Given the description of an element on the screen output the (x, y) to click on. 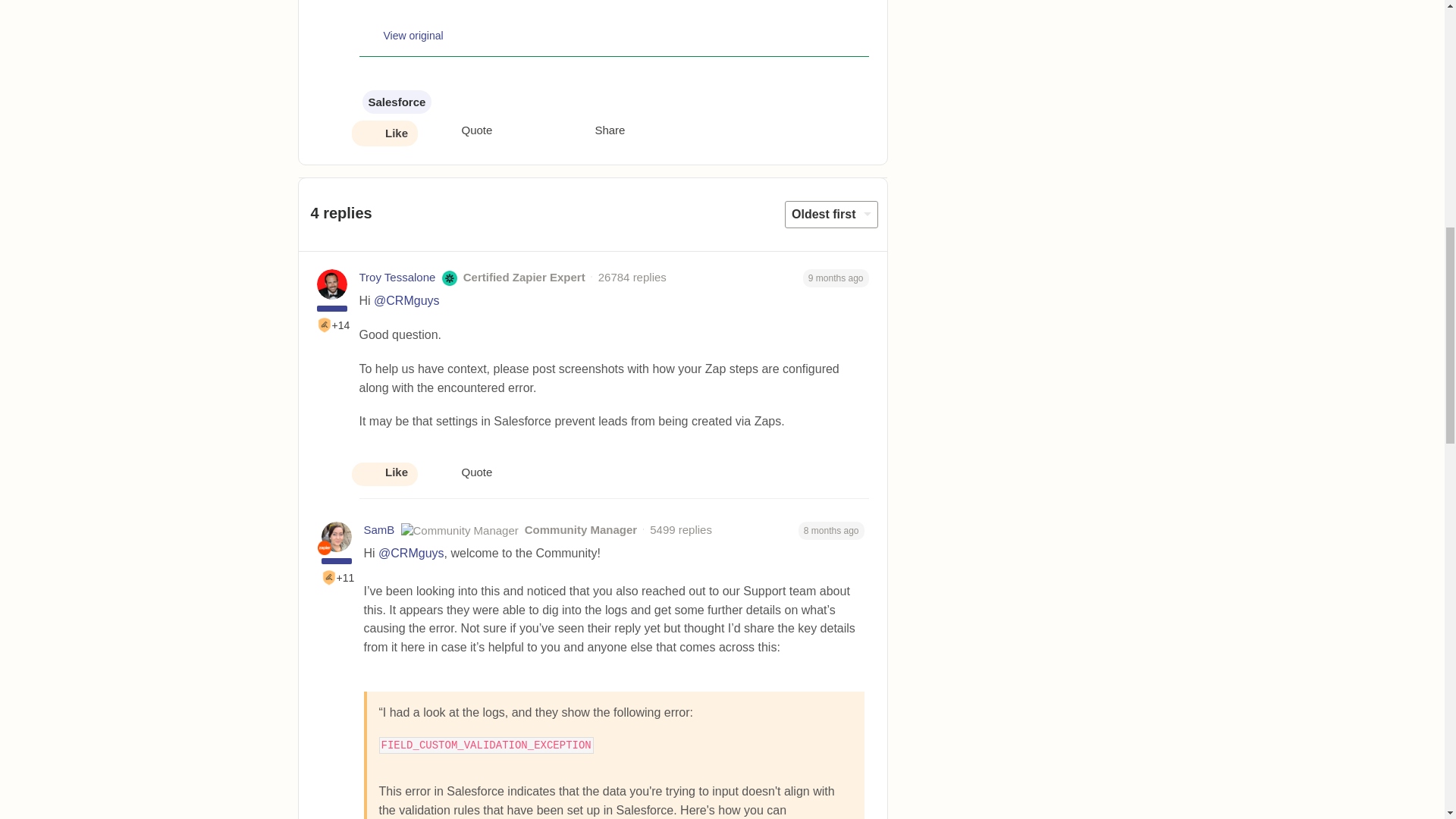
First Best Answer (324, 324)
Community Manager (323, 547)
SamB (379, 529)
Troy Tessalone (397, 277)
First Best Answer (328, 577)
